Given the description of an element on the screen output the (x, y) to click on. 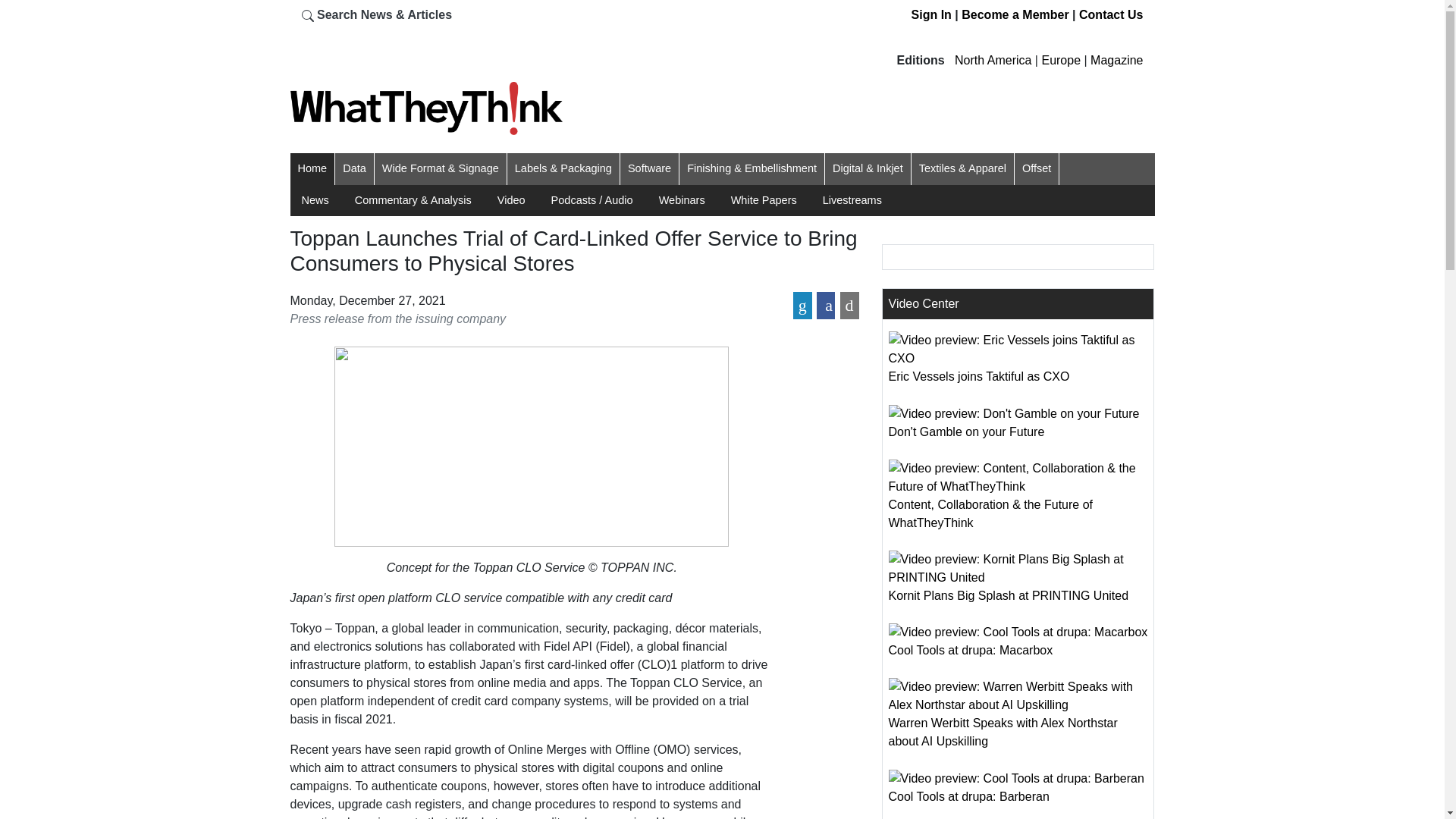
Webinars (681, 200)
Europe (1060, 60)
Become a Member (1014, 14)
Magazine (1116, 60)
Home (311, 168)
Software (649, 168)
Livestreams (852, 200)
White Papers (763, 200)
News (315, 200)
Contact Us (1110, 14)
